Given the description of an element on the screen output the (x, y) to click on. 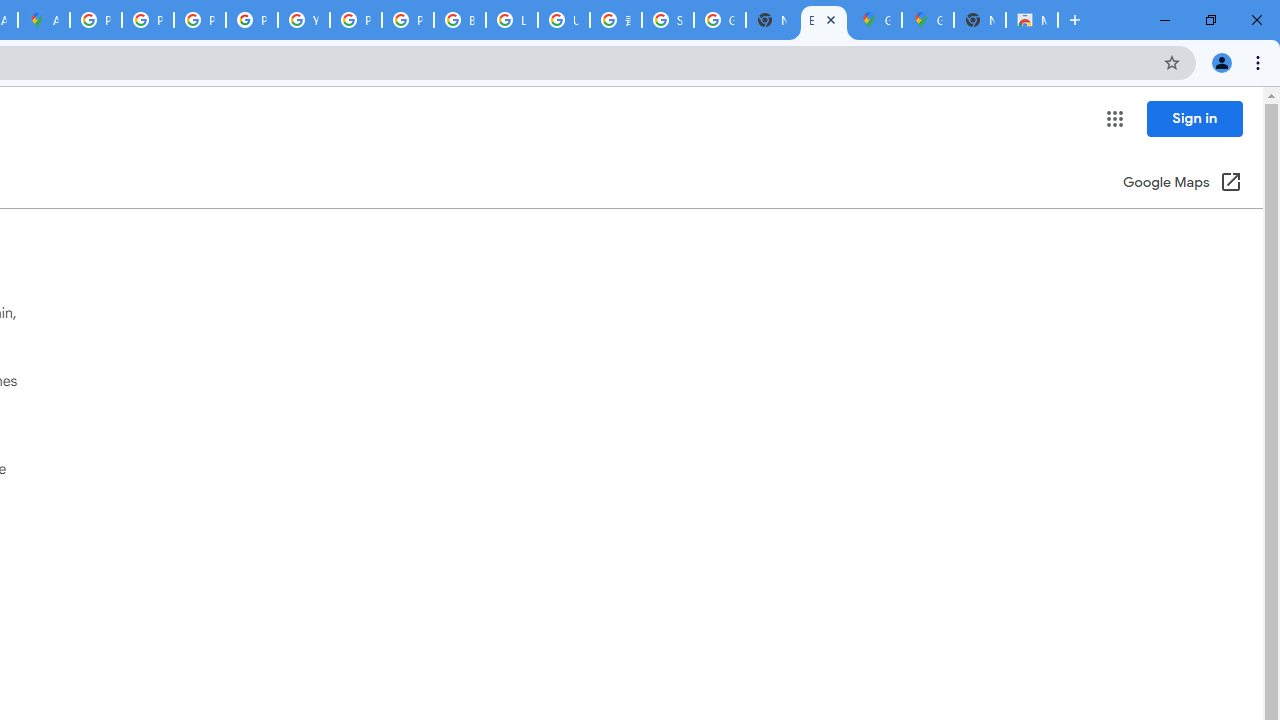
New Tab (979, 20)
Google Maps (Open in a new window) (1182, 183)
Privacy Help Center - Policies Help (200, 20)
Privacy Help Center - Policies Help (147, 20)
Google Maps (927, 20)
Google Maps (875, 20)
